Given the description of an element on the screen output the (x, y) to click on. 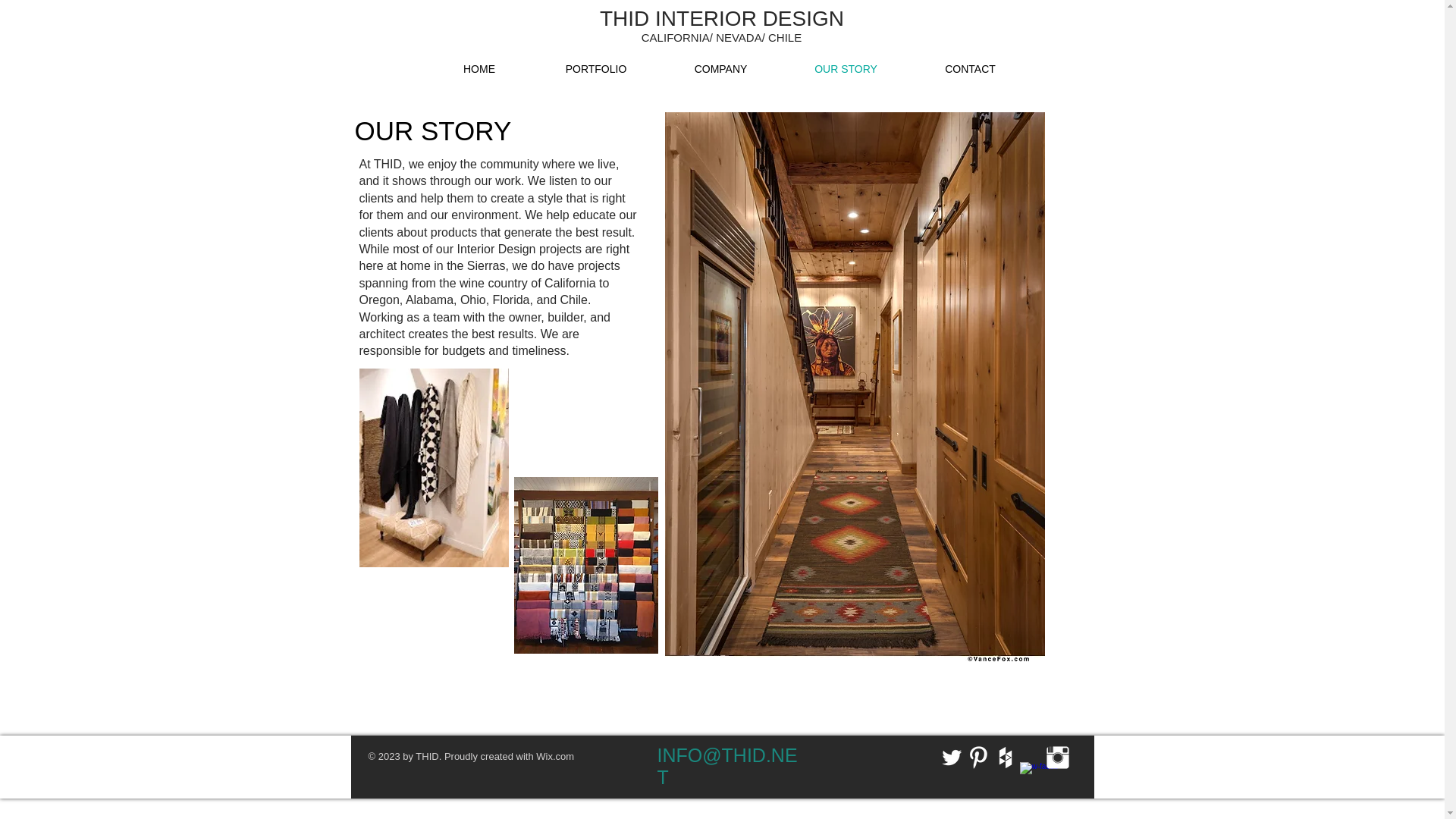
PORTFOLIO (596, 68)
HOME (478, 68)
COMPANY (719, 68)
OUR STORY (845, 68)
CONTACT (969, 68)
Wix.com (554, 756)
